Given the description of an element on the screen output the (x, y) to click on. 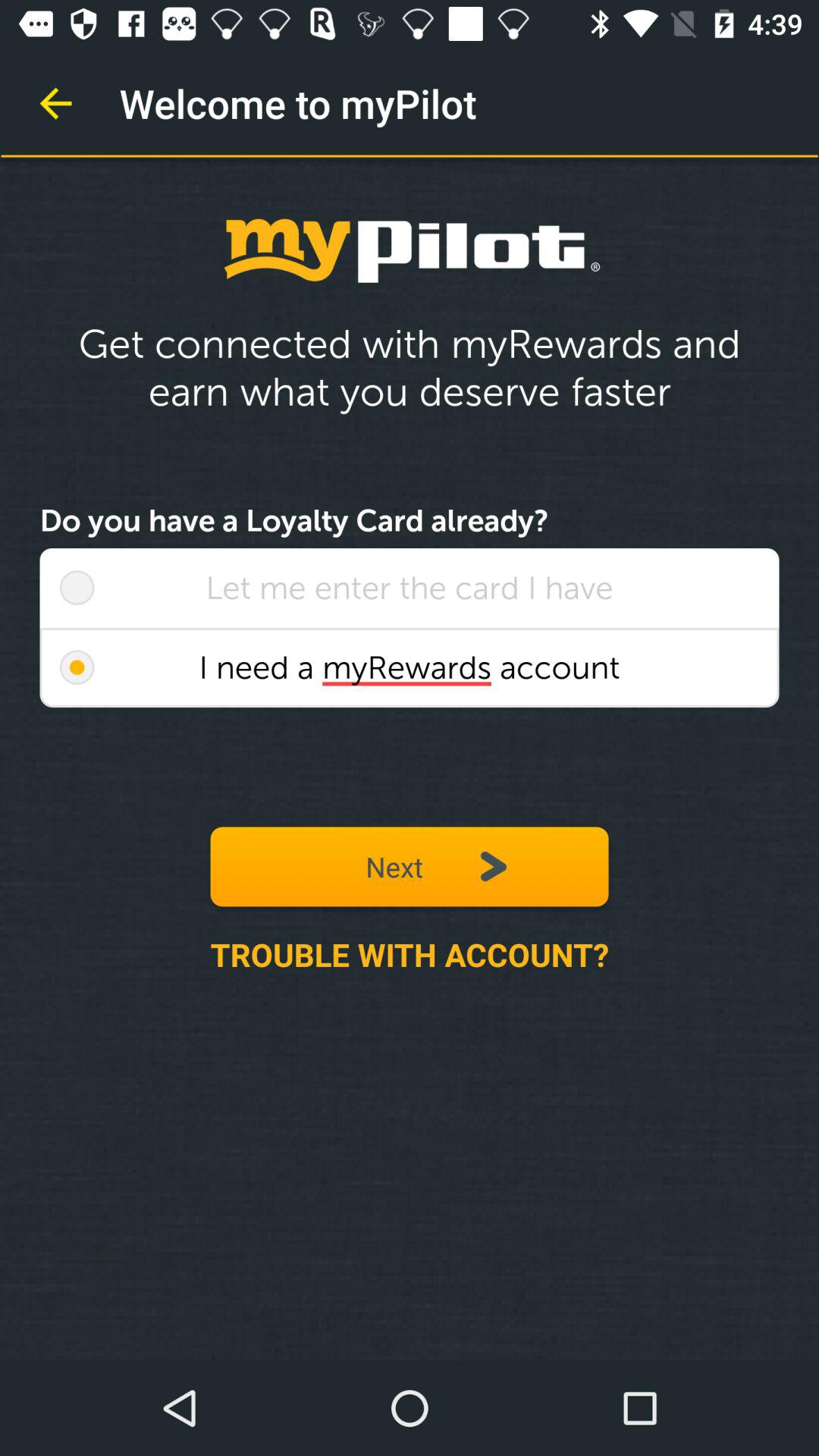
choose i need a icon (409, 667)
